Given the description of an element on the screen output the (x, y) to click on. 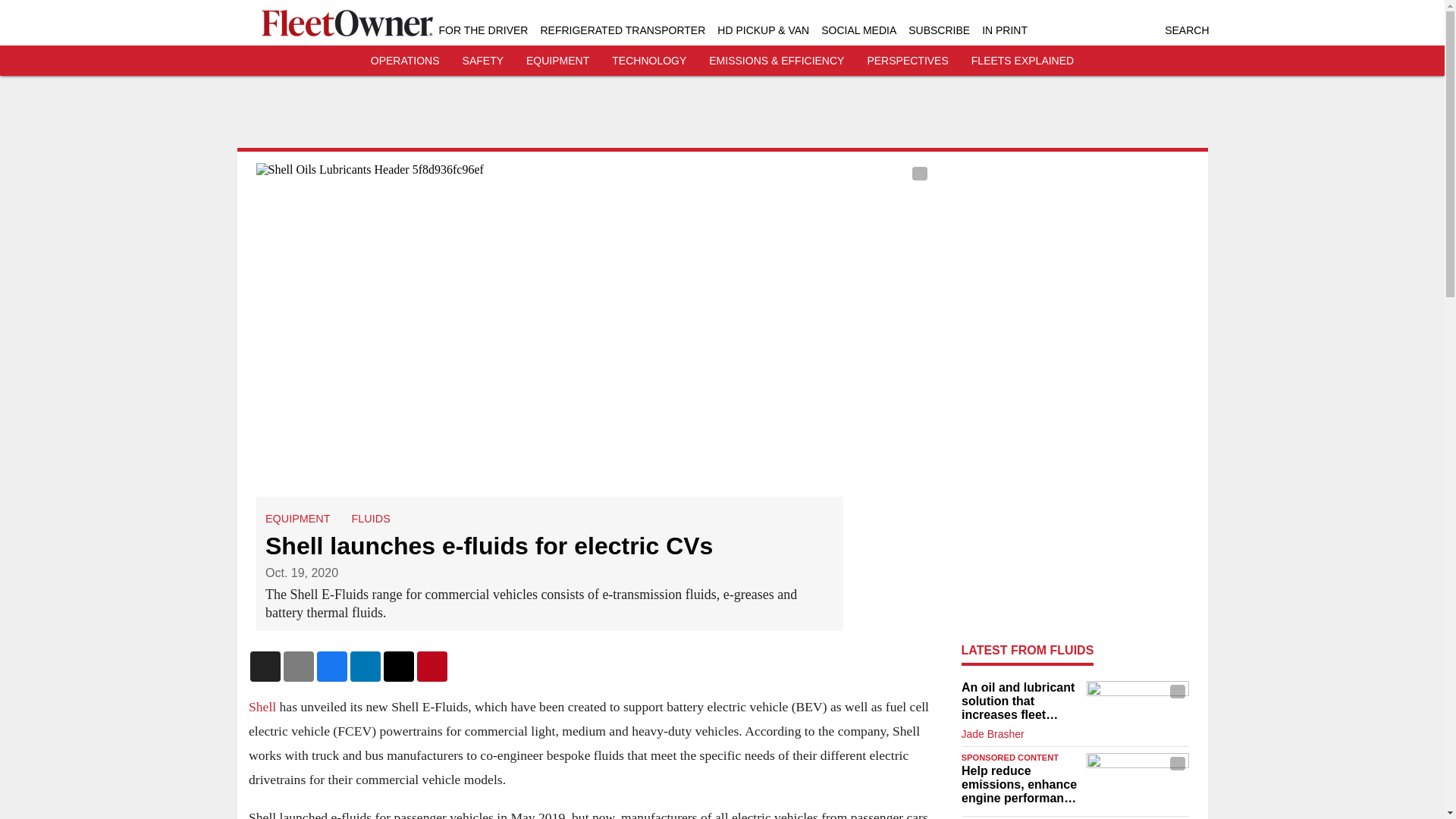
Shell (262, 706)
SAFETY (483, 60)
FLEETS EXPLAINED (1022, 60)
SUBSCRIBE (938, 30)
EQUIPMENT (297, 518)
EQUIPMENT (557, 60)
FLUIDS (370, 518)
IN PRINT (1004, 30)
SEARCH (1186, 30)
